Given the description of an element on the screen output the (x, y) to click on. 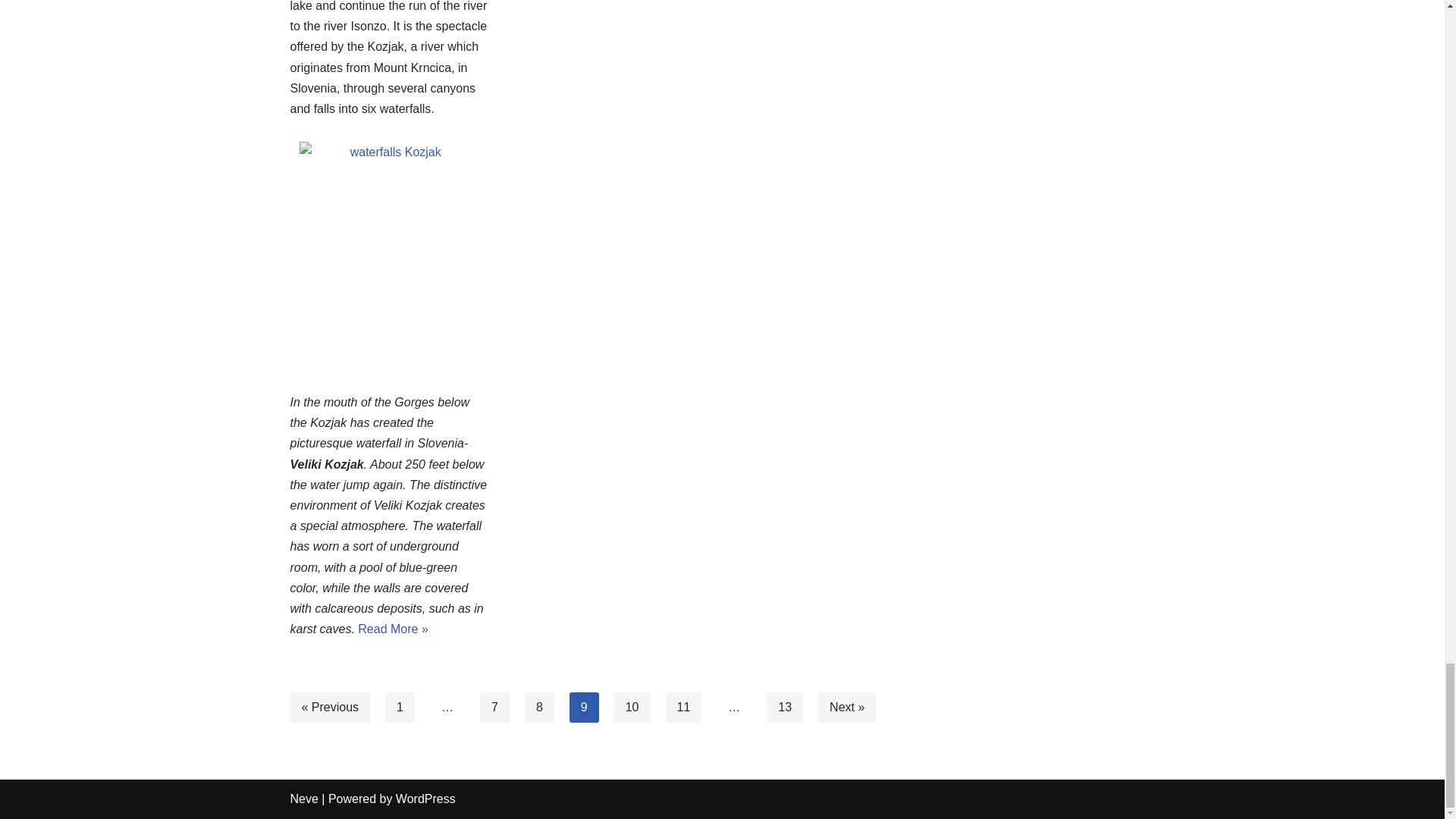
waterfalls Kozjak (389, 255)
